Given the description of an element on the screen output the (x, y) to click on. 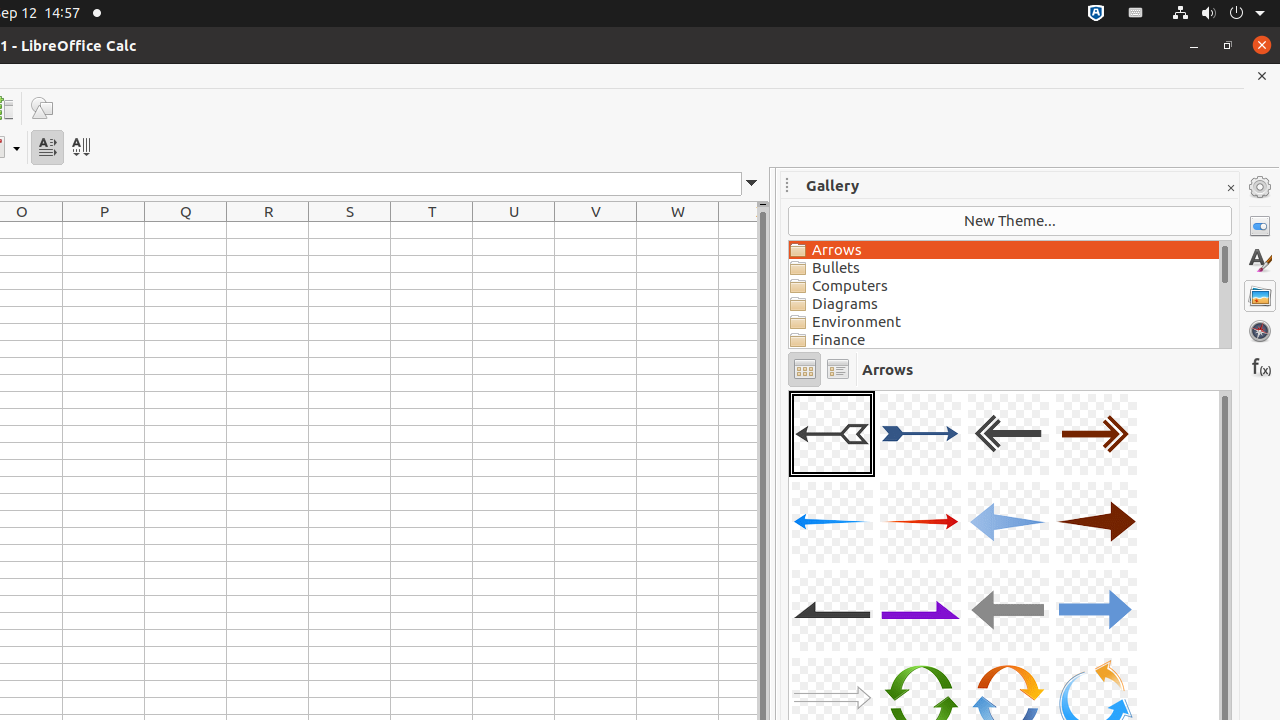
R1 Element type: table-cell (268, 230)
Diagrams Element type: list-item (1004, 304)
Bullets Element type: list-item (1004, 268)
Icon View Element type: toggle-button (804, 369)
A03-Arrow-Gray-Left Element type: list-item (1008, 433)
